Given the description of an element on the screen output the (x, y) to click on. 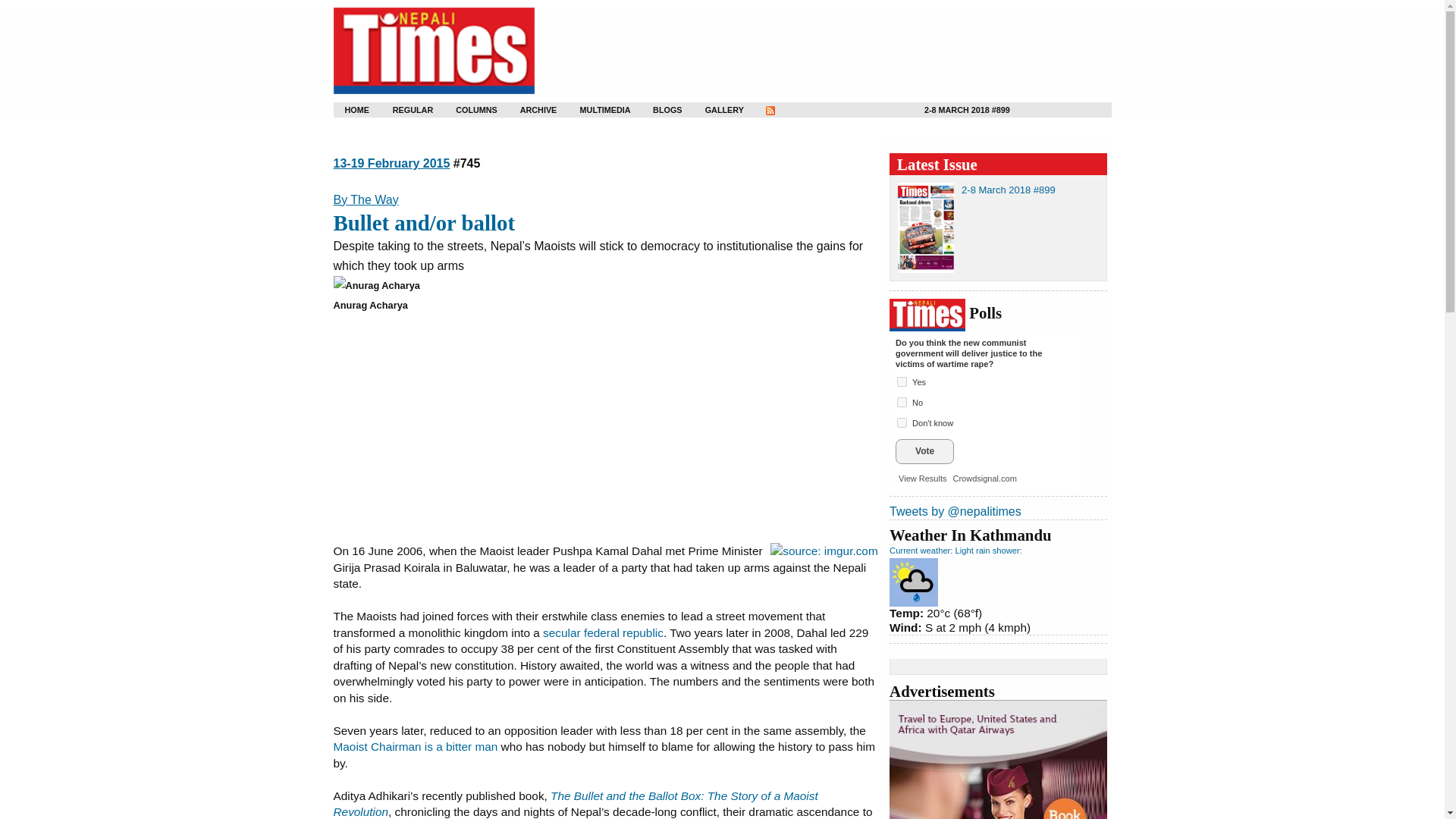
45613187 (901, 422)
HOME (349, 109)
Anurag Acharya (376, 285)
MULTIMEDIA (592, 110)
Nepali Times (433, 51)
Issue: 2-8 March 2018 (1007, 189)
source: imgur.com (823, 550)
BLOGS (659, 110)
REGULAR (403, 110)
Issue: 2-8 March 2018 (967, 110)
